Given the description of an element on the screen output the (x, y) to click on. 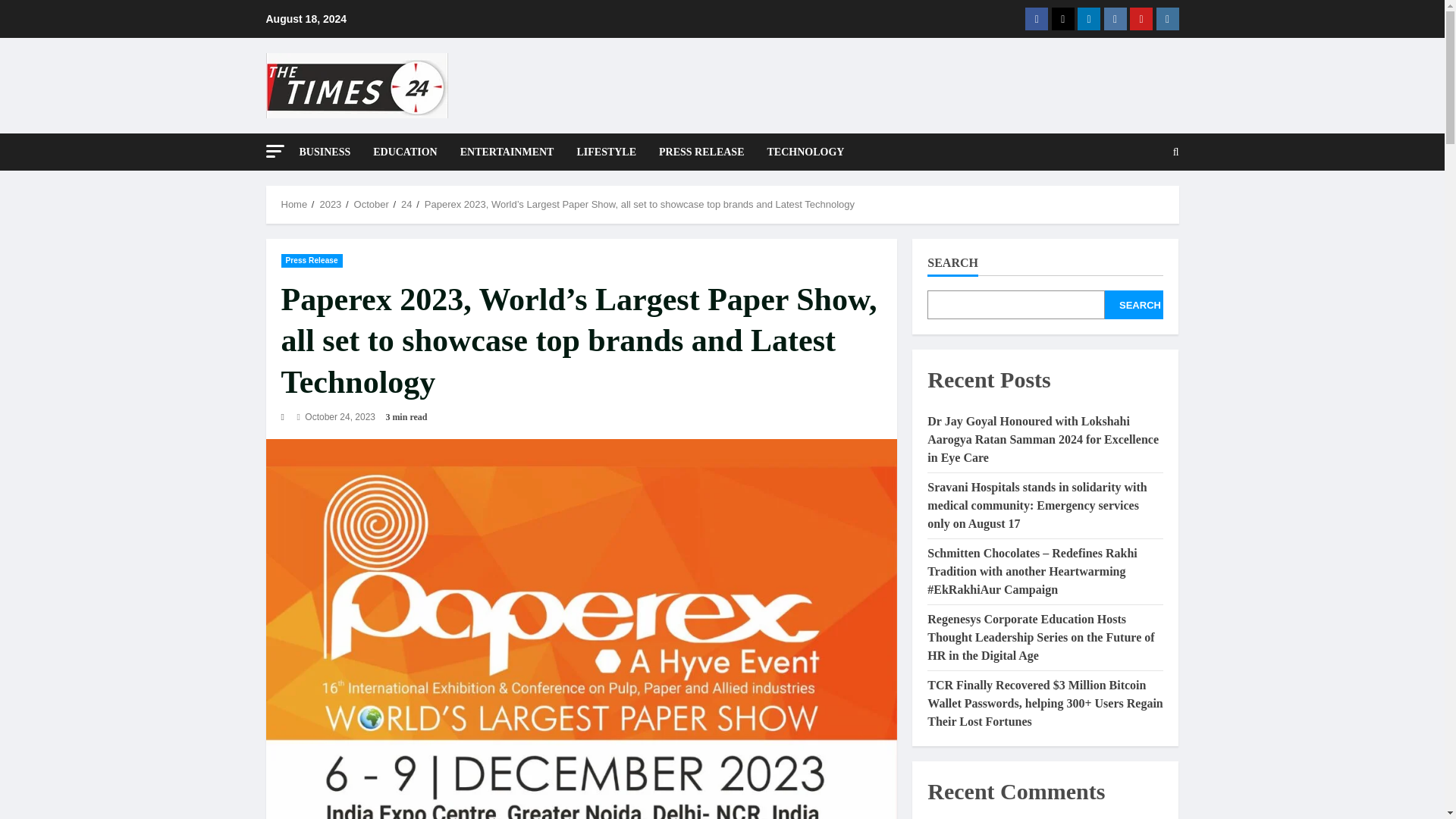
VK (1114, 18)
Twitter (1062, 18)
Youtube (1141, 18)
Linkedin (1088, 18)
Instagram (1166, 18)
Facebook (1036, 18)
